Given the description of an element on the screen output the (x, y) to click on. 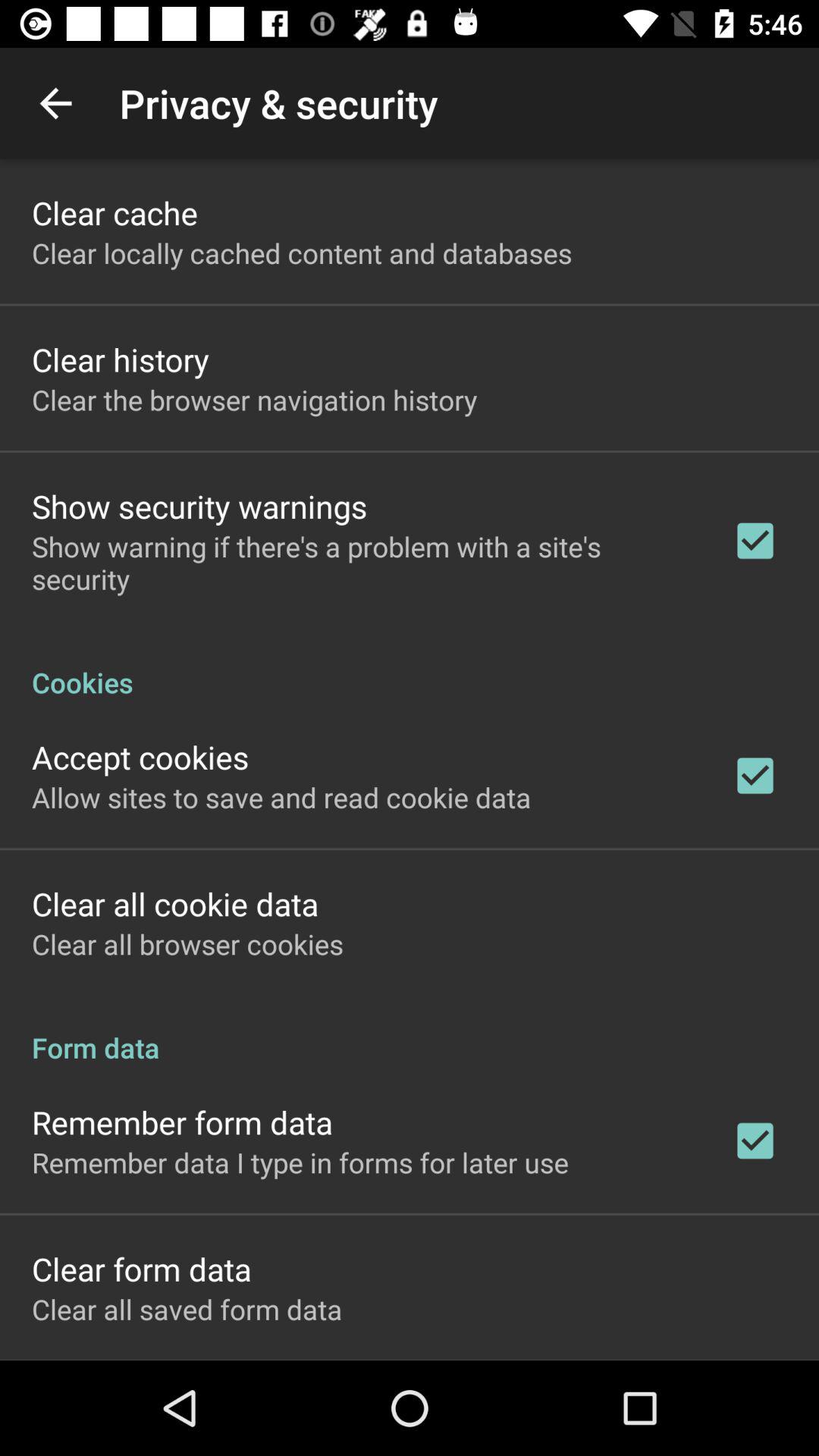
flip until clear locally cached icon (301, 252)
